Given the description of an element on the screen output the (x, y) to click on. 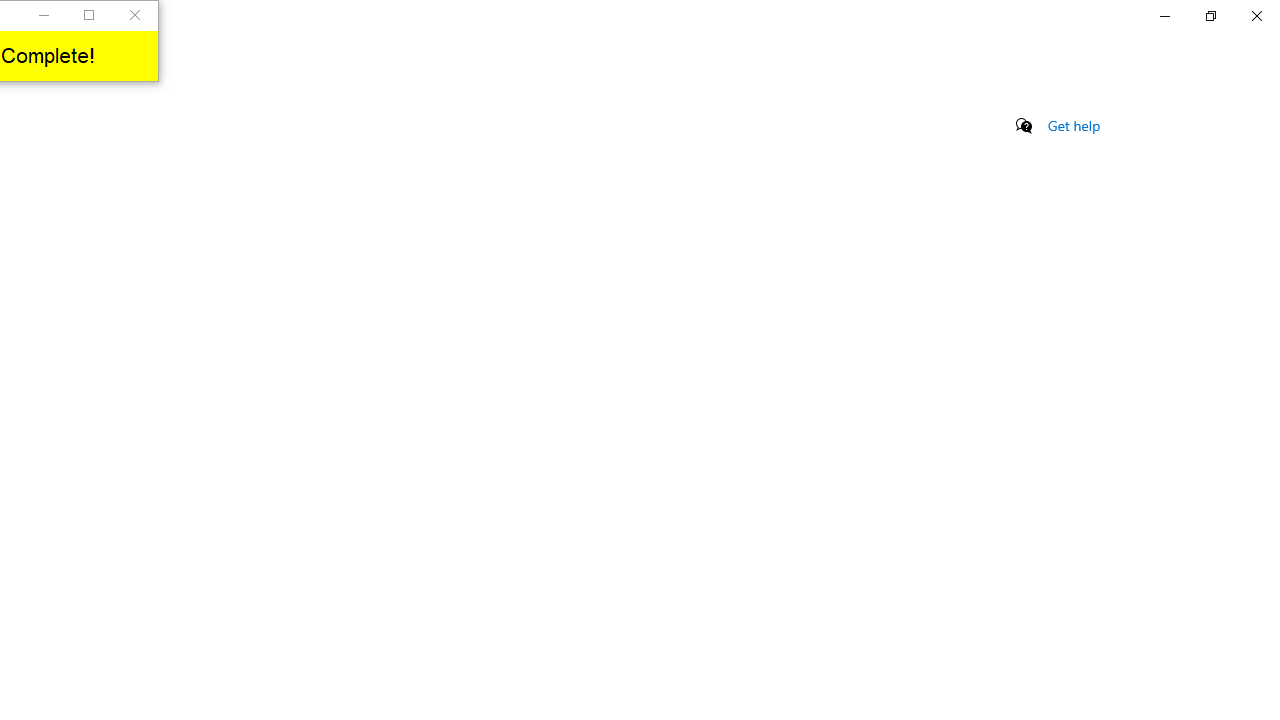
Minimize Settings (1164, 15)
Restore Settings (1210, 15)
Close Settings (1256, 15)
Get help (1074, 125)
